Given the description of an element on the screen output the (x, y) to click on. 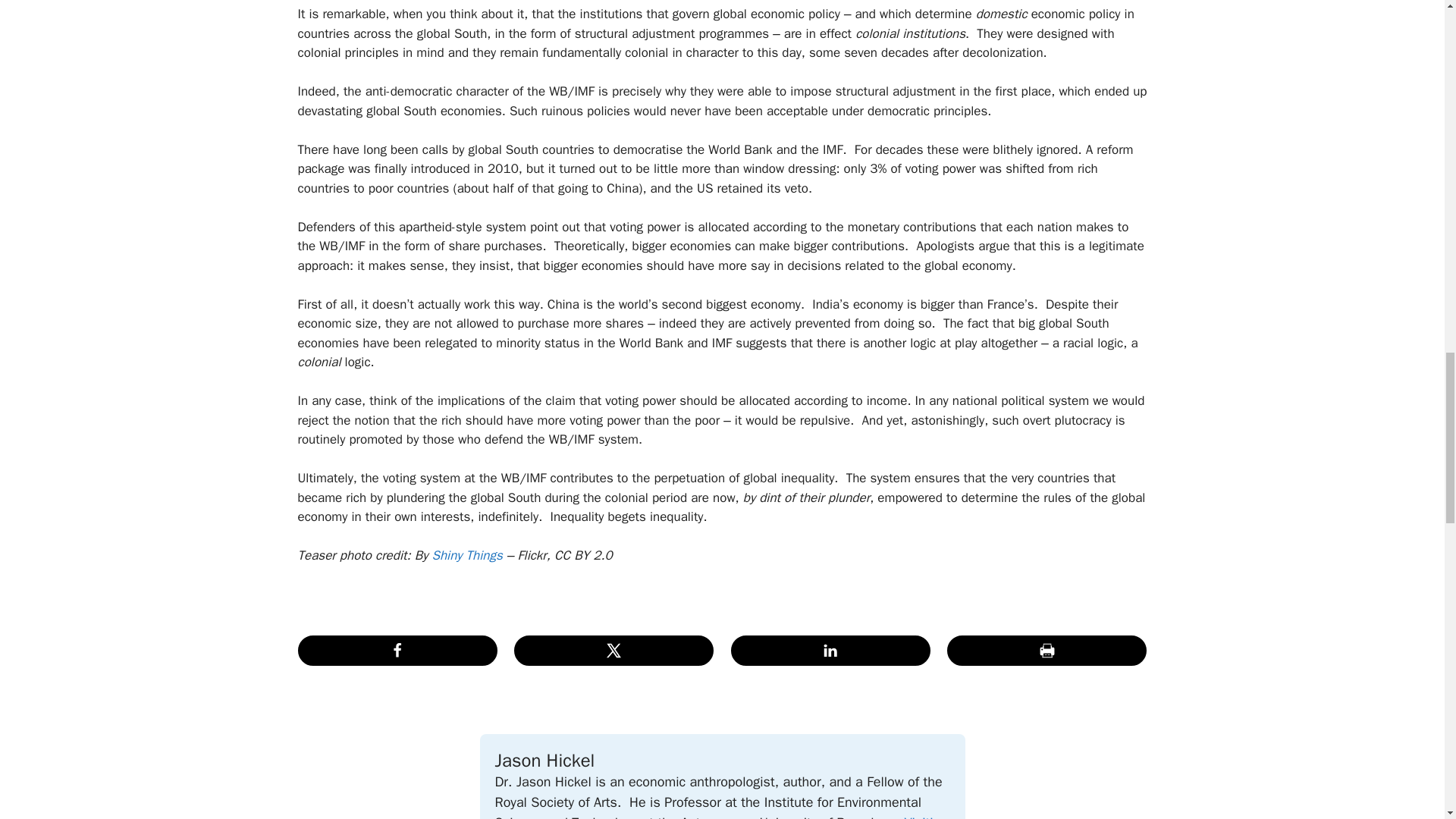
Print this webpage (1047, 650)
Share on Facebook (396, 650)
Share on X (613, 650)
Share on LinkedIn (830, 650)
